Given the description of an element on the screen output the (x, y) to click on. 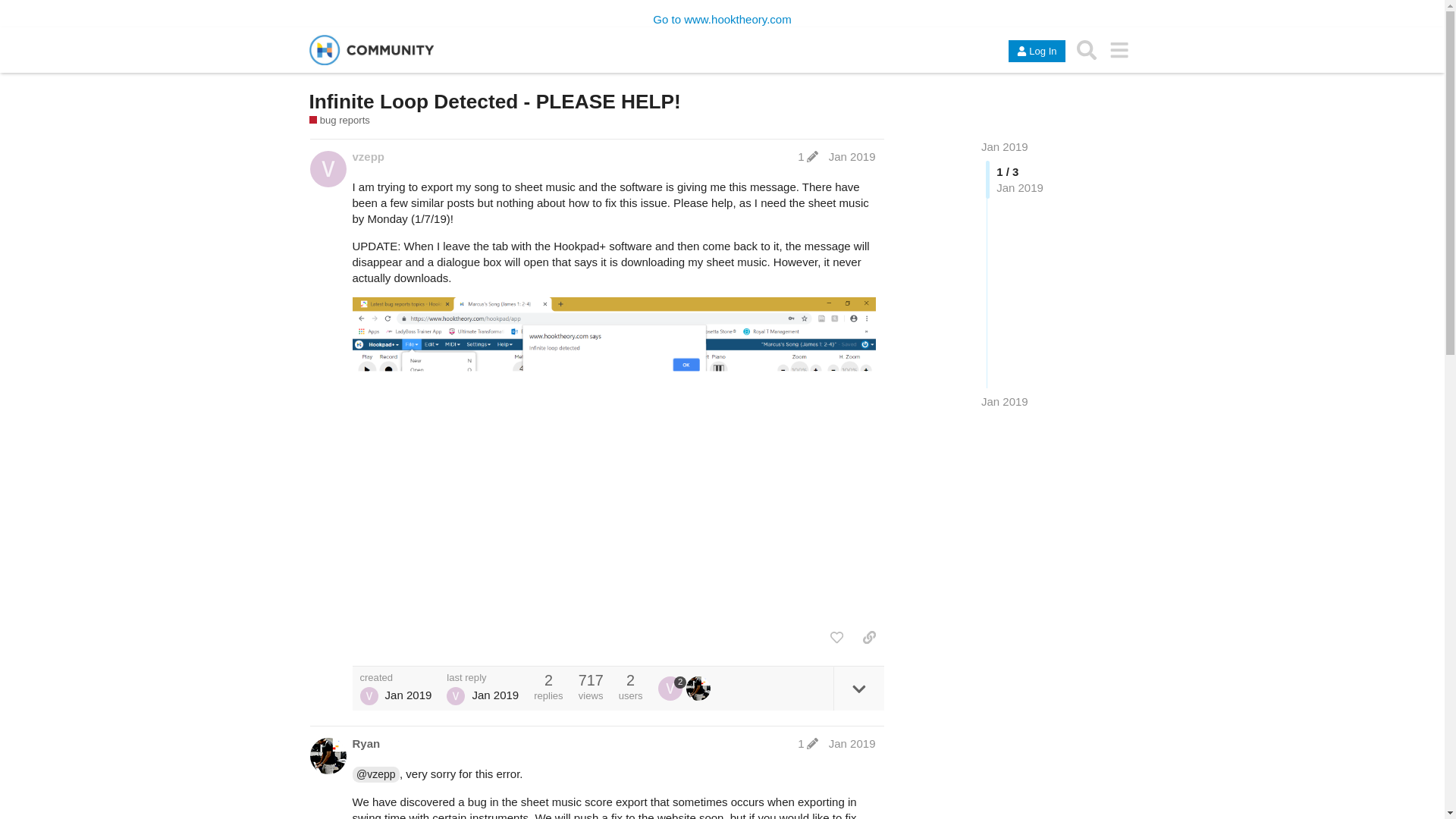
Jan 2019 (852, 155)
Log In (1036, 51)
Vzepp (368, 696)
1 (807, 155)
like this post (836, 637)
copy a link to this post to clipboard (869, 637)
Vzepp (455, 696)
2 (671, 688)
expand topic details (857, 688)
Jan 8, 2019 10:59 am (1004, 400)
